Given the description of an element on the screen output the (x, y) to click on. 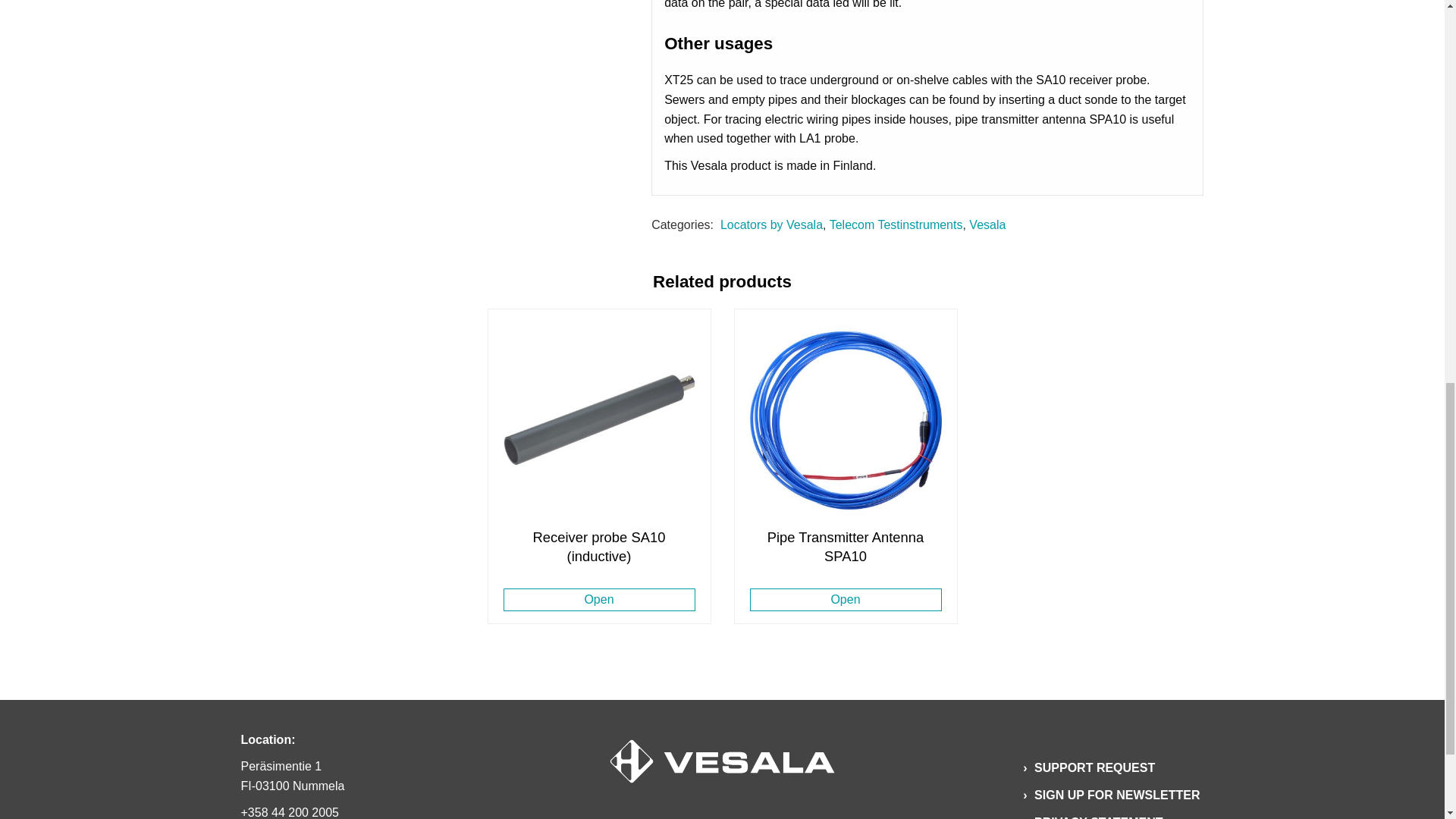
SUPPORT REQUEST (1094, 768)
PRIVACY STATEMENT (1098, 814)
Locators by Vesala (771, 224)
SIGN UP FOR NEWSLETTER (1117, 795)
Telecom Testinstruments (895, 224)
Vesala (987, 224)
